Given the description of an element on the screen output the (x, y) to click on. 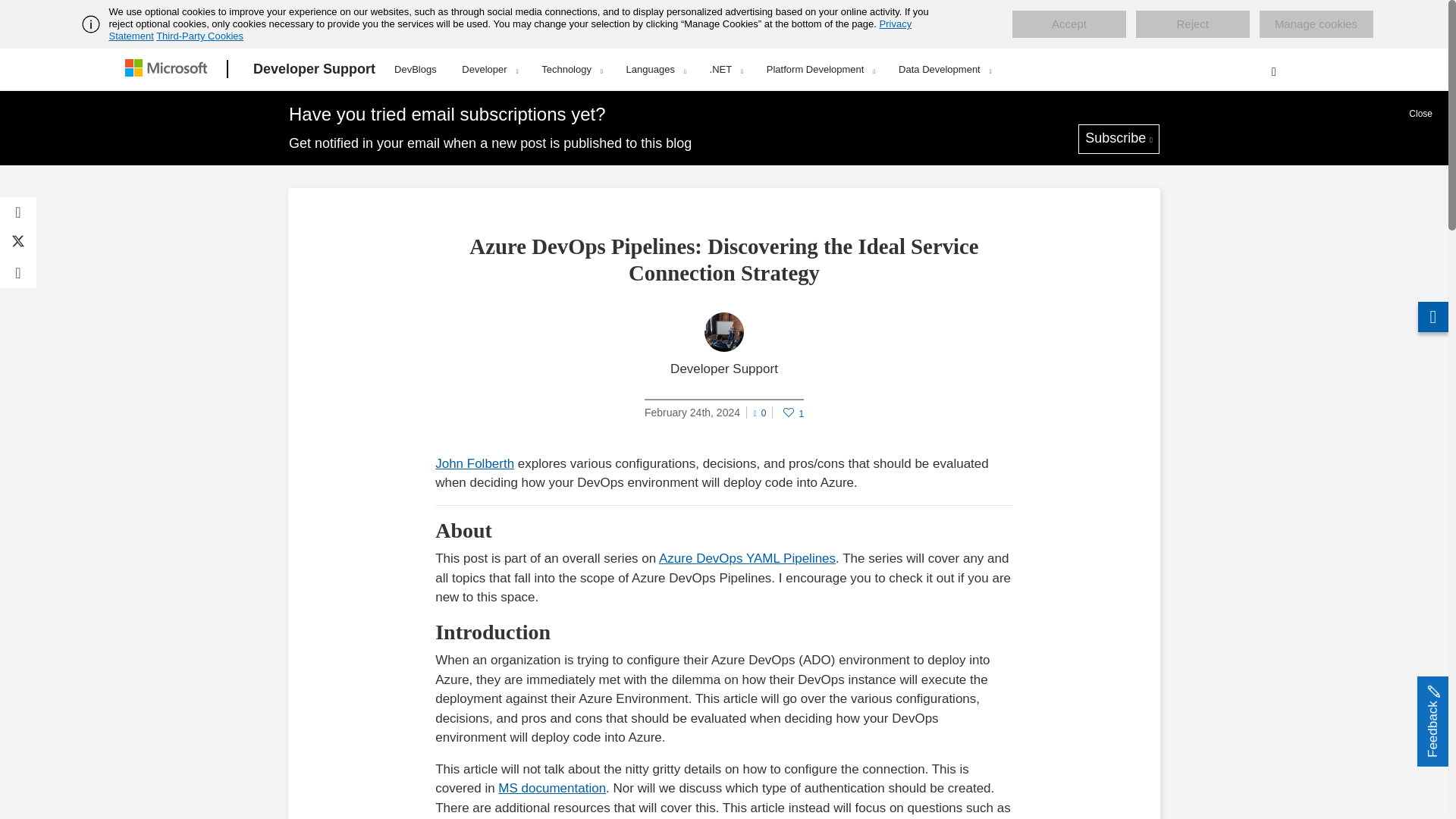
DevBlogs (415, 67)
Privacy Statement (510, 29)
Manage cookies (1316, 23)
Third-Party Cookies (199, 35)
Reject (1192, 23)
Developer (488, 69)
Languages (655, 69)
Share on Twitter (18, 242)
Share on Facebook (18, 212)
Technology (571, 69)
